Given the description of an element on the screen output the (x, y) to click on. 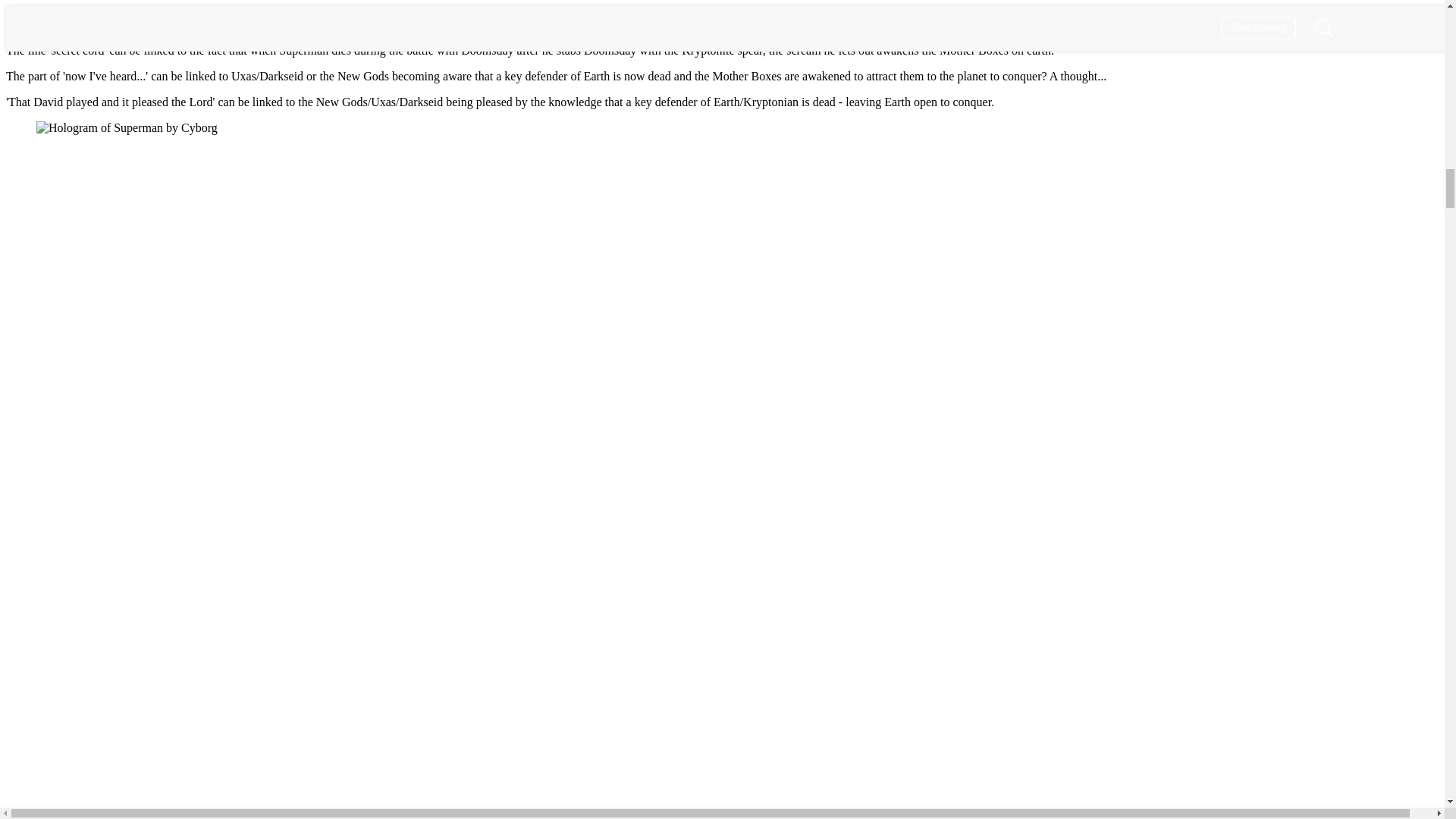
Death of Superman (83, 24)
